Given the description of an element on the screen output the (x, y) to click on. 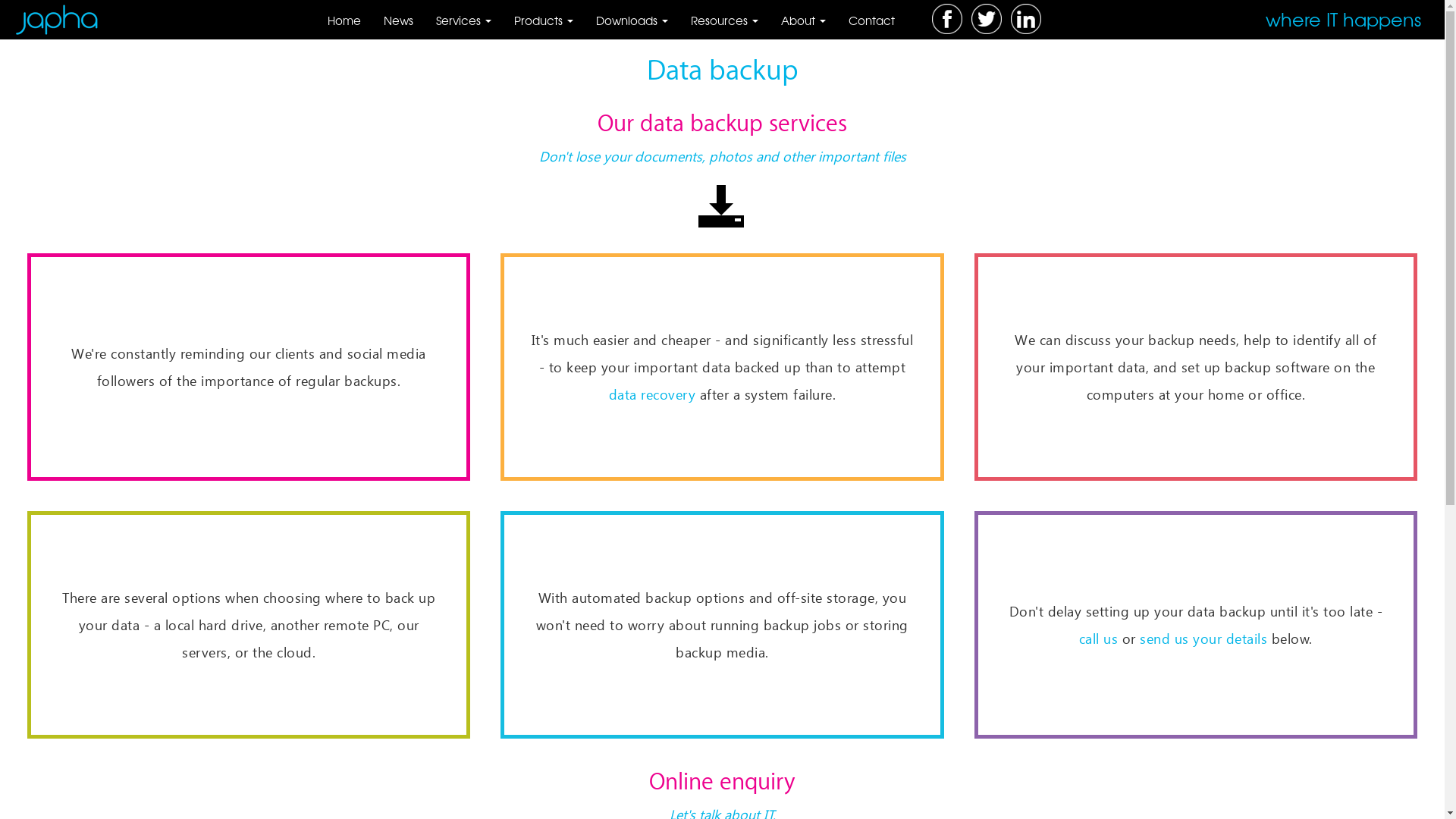
Home Element type: text (343, 19)
Downloads Element type: text (630, 19)
data recovery Element type: text (652, 394)
Services Element type: text (463, 19)
call us Element type: text (1098, 638)
send us your details Element type: text (1203, 638)
Resources Element type: text (724, 19)
About Element type: text (802, 19)
Products Element type: text (542, 19)
News Element type: text (397, 19)
Contact Element type: text (871, 19)
